Given the description of an element on the screen output the (x, y) to click on. 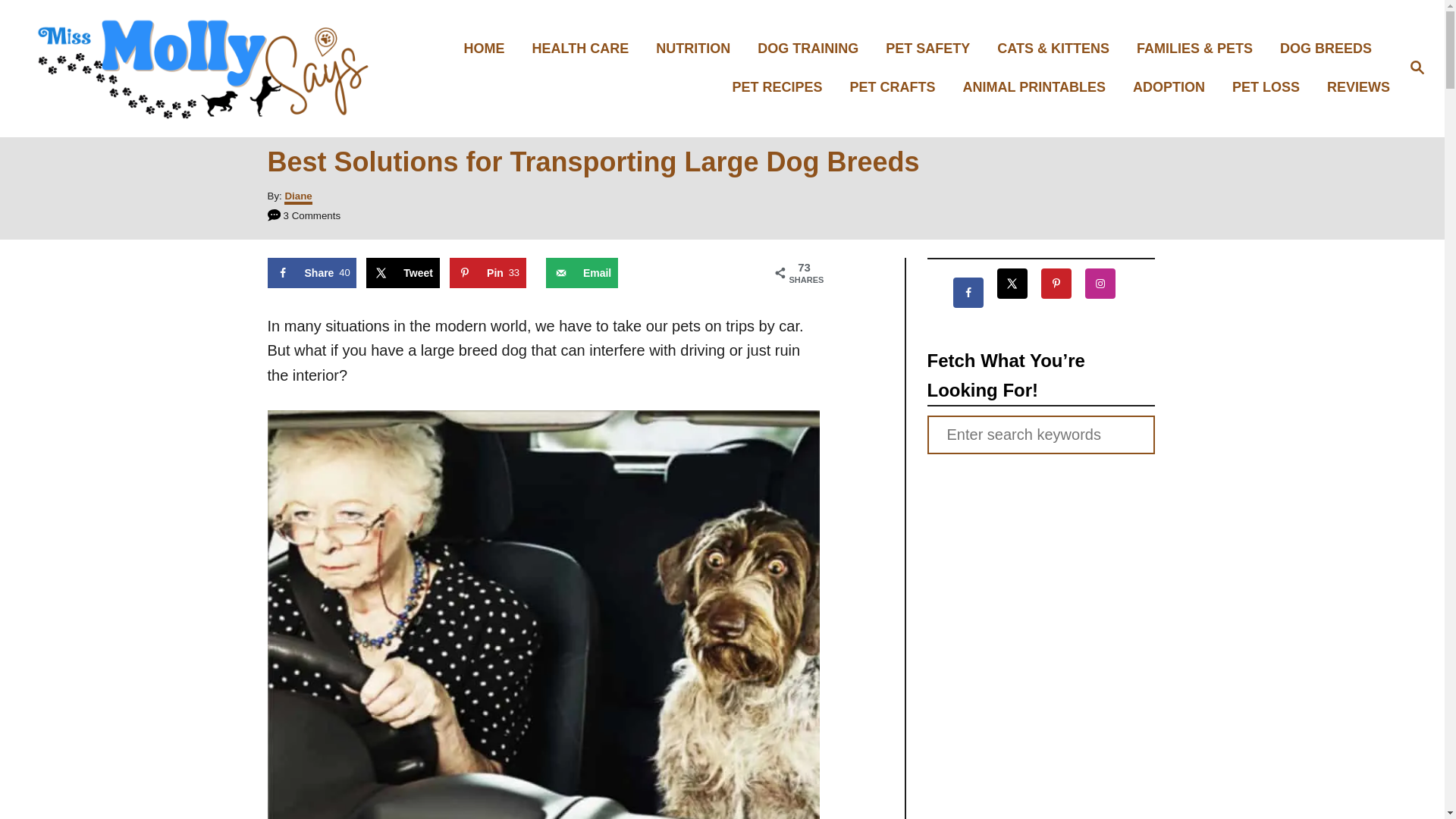
Miss Molly Says (204, 68)
NUTRITION (697, 48)
DOG BREEDS (1330, 48)
Share on X (402, 272)
Magnifying Glass (1416, 67)
PET CRAFTS (897, 87)
Share on Facebook (311, 272)
HEALTH CARE (584, 48)
PET SAFETY (932, 48)
PET LOSS (1270, 87)
